Given the description of an element on the screen output the (x, y) to click on. 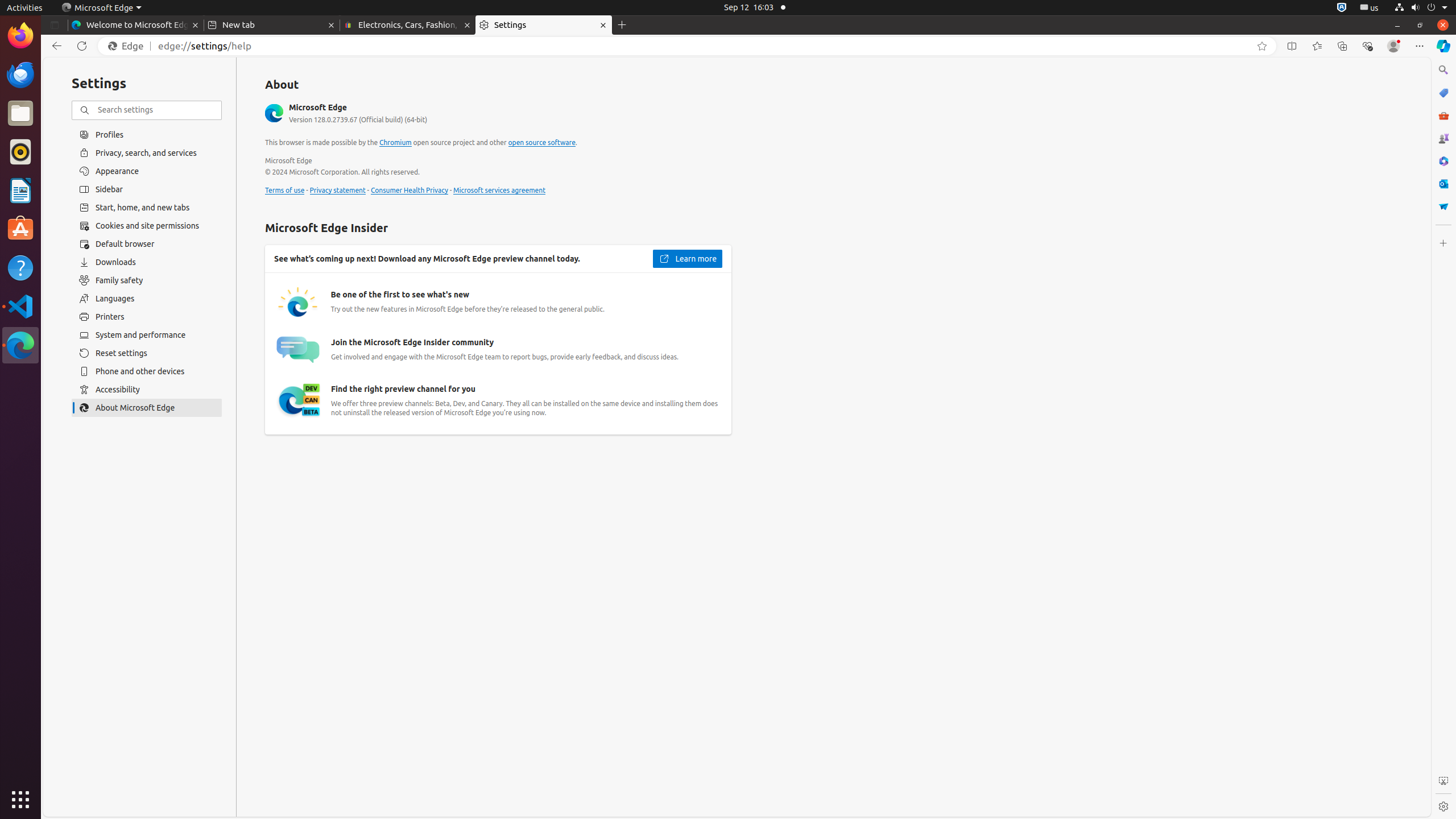
New tab Element type: page-tab (271, 25)
Visual Studio Code Element type: push-button (20, 306)
Downloads Element type: tree-item (146, 262)
System Element type: menu (1420, 7)
Microsoft services agreement Element type: link (499, 190)
